Given the description of an element on the screen output the (x, y) to click on. 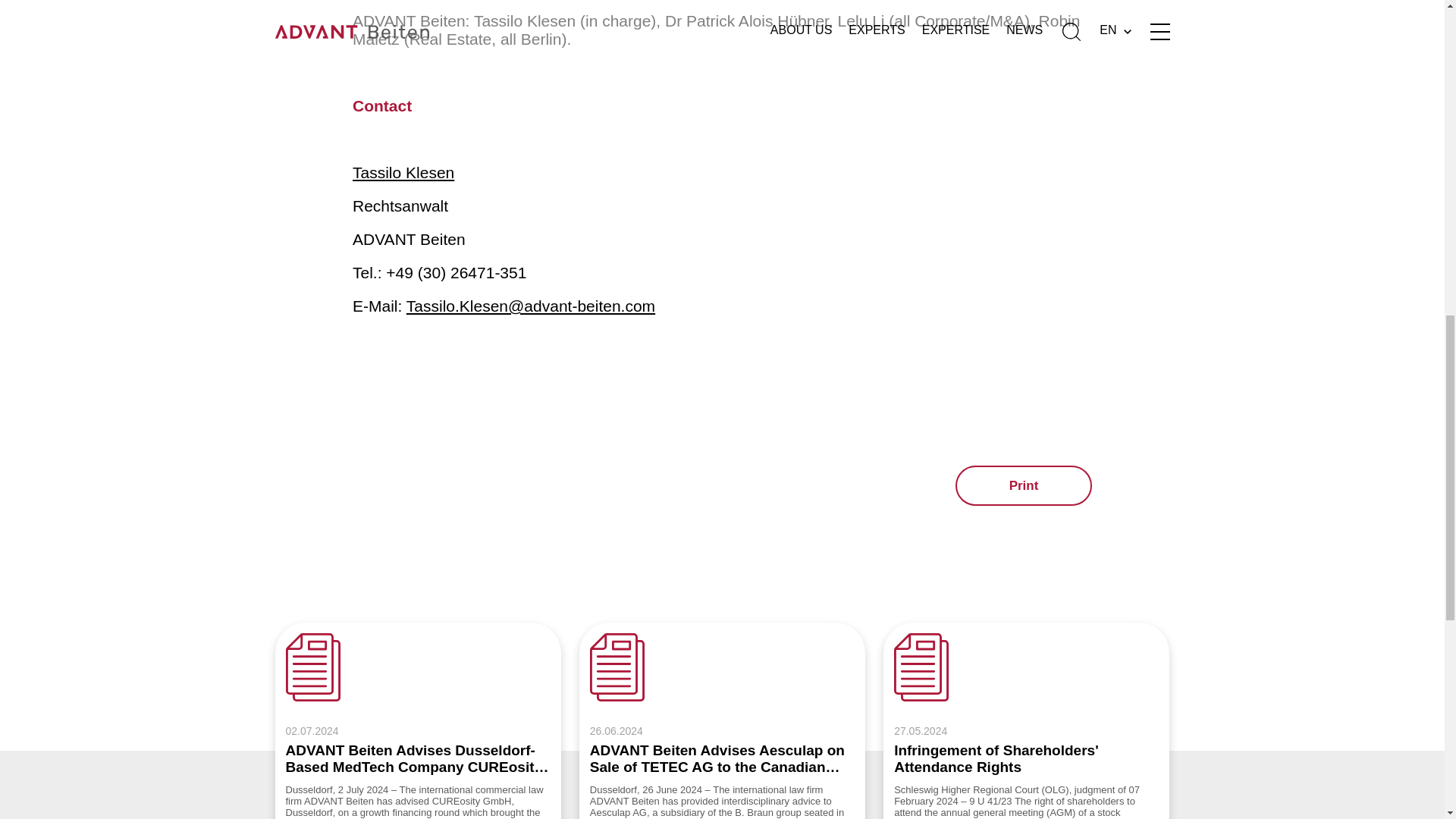
Infringement of Shareholders' Attendance Rights (1026, 713)
